Given the description of an element on the screen output the (x, y) to click on. 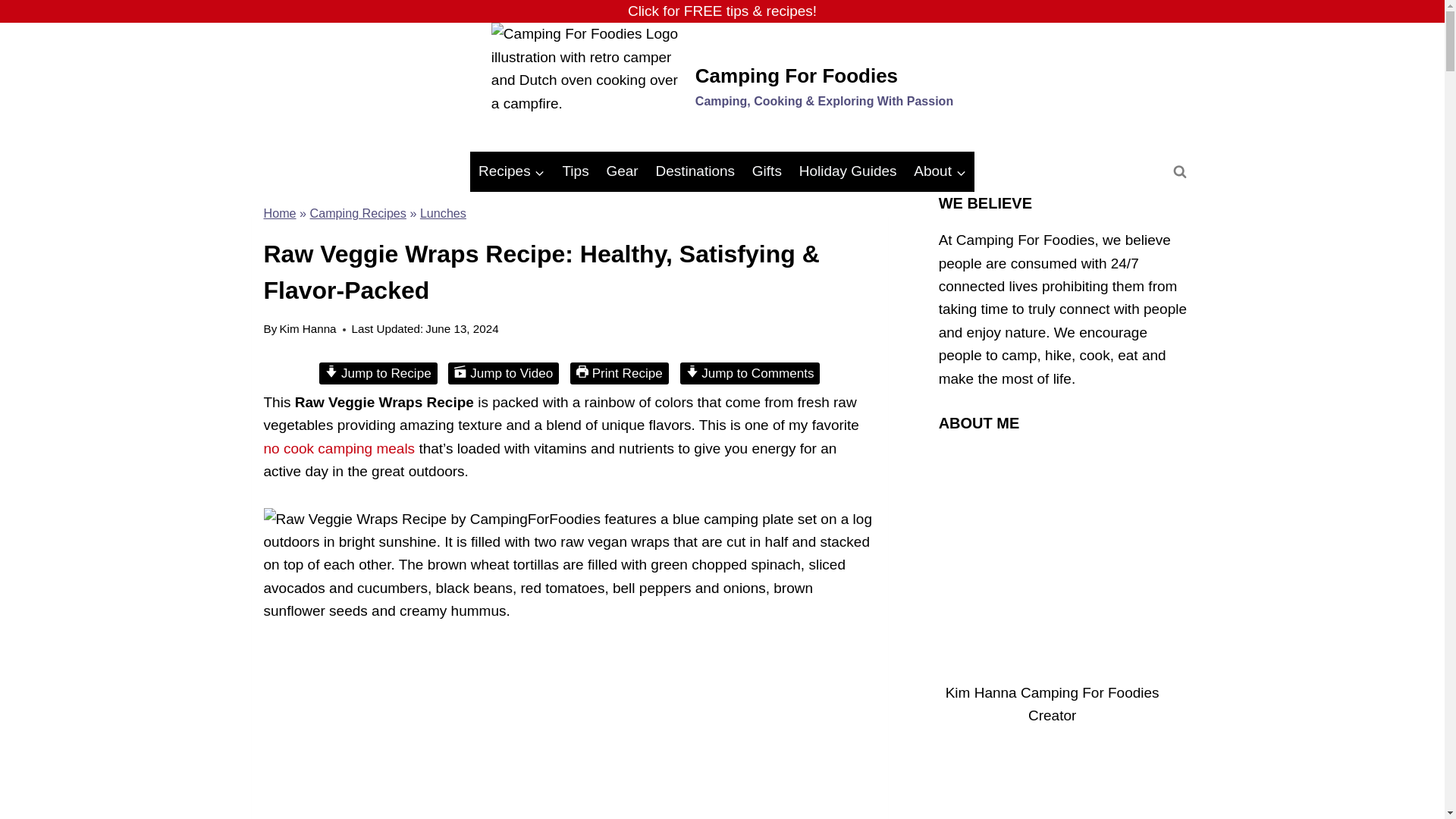
Gifts (766, 171)
Tips (574, 171)
Gear (621, 171)
Jump to Comments (750, 373)
Destinations (694, 171)
Kim Hanna (307, 328)
About (939, 171)
Jump to Recipe (378, 373)
Holiday Guides (847, 171)
Lunches (442, 213)
